Given the description of an element on the screen output the (x, y) to click on. 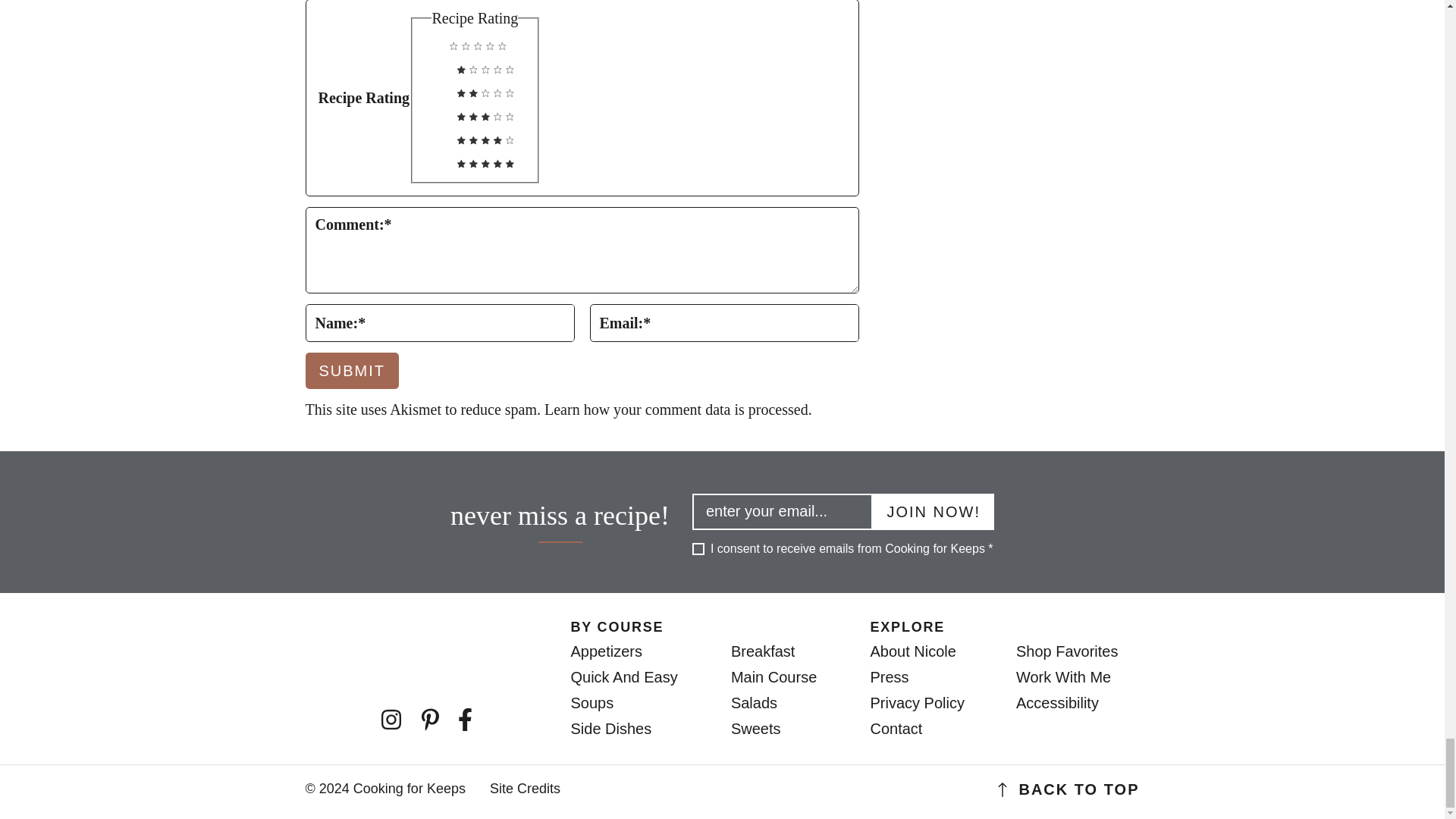
1 (434, 65)
4 (434, 135)
 I consent to receive emails from Cooking for Keeps (698, 548)
2 (434, 88)
5 (434, 158)
0 (427, 41)
Submit (351, 370)
3 (434, 111)
